Given the description of an element on the screen output the (x, y) to click on. 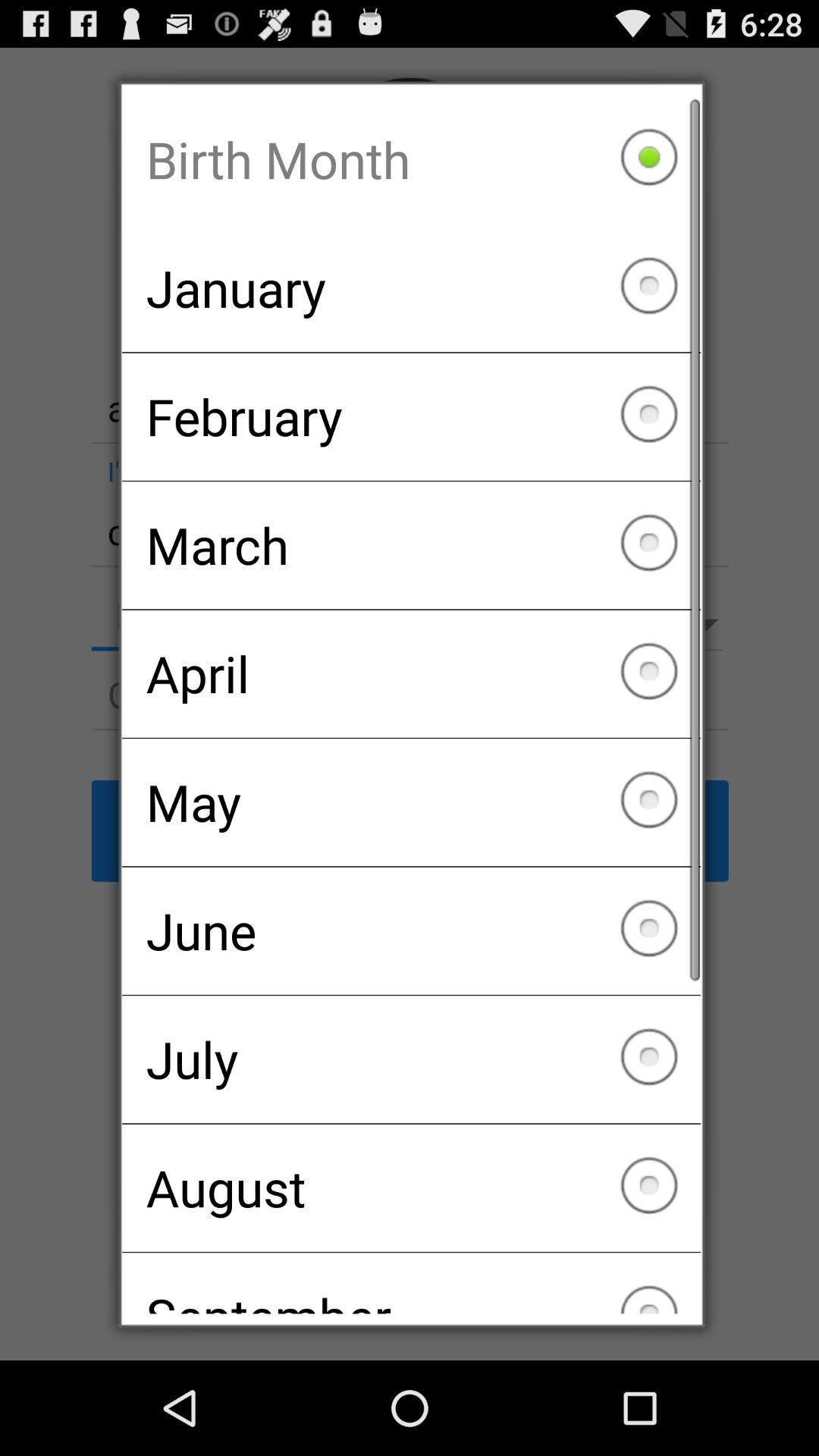
scroll to march item (411, 545)
